Given the description of an element on the screen output the (x, y) to click on. 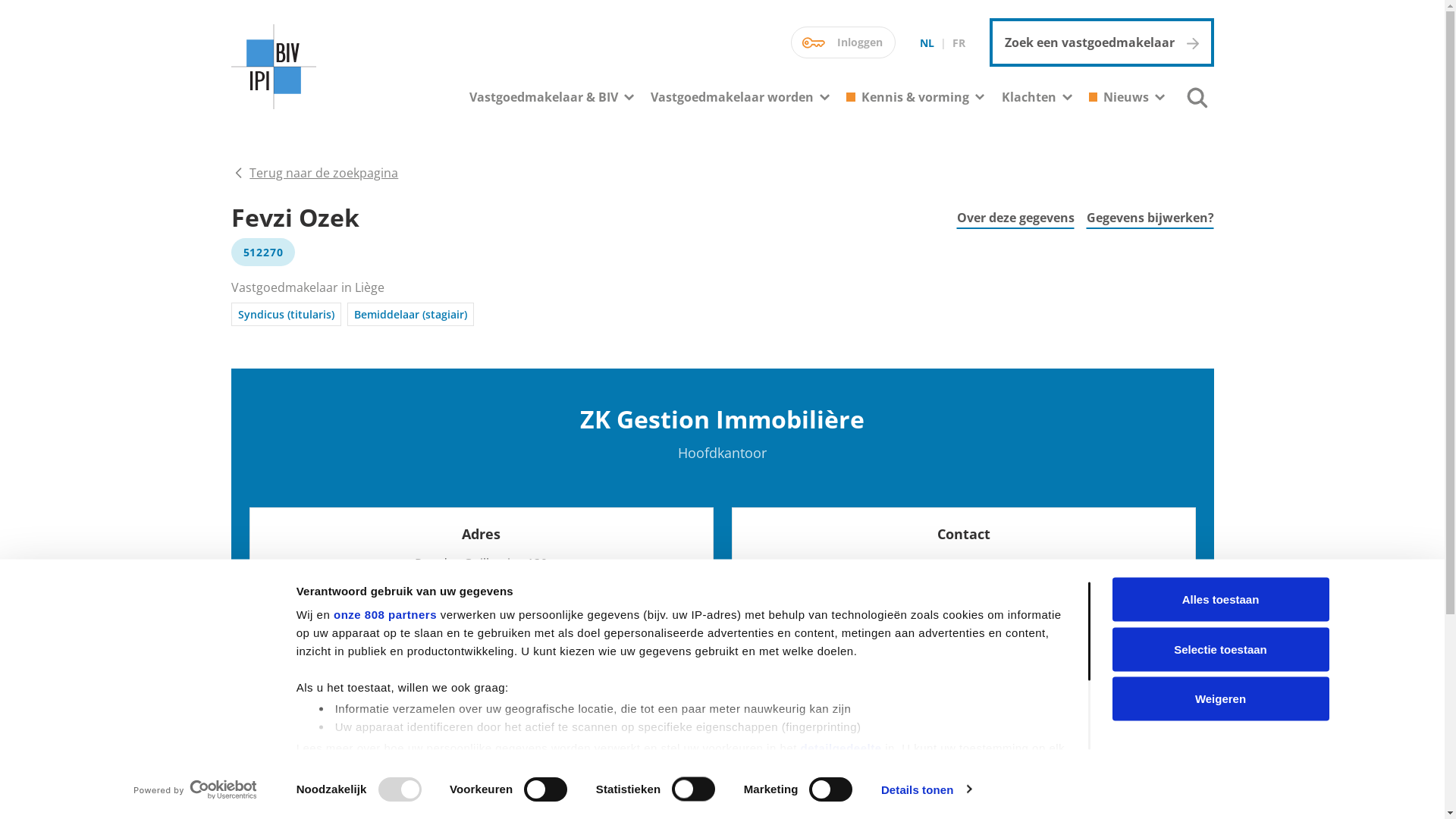
Alles toestaan Element type: text (1219, 599)
Route Element type: text (491, 610)
Klachten Element type: text (1028, 96)
Over deze gegevens Element type: text (1015, 218)
+32 (493) 82.12.04 Element type: text (974, 585)
Inloggen Element type: text (842, 42)
Selectie toestaan Element type: text (1219, 649)
Weigeren Element type: text (1219, 698)
Gegevens bijwerken? Element type: text (1149, 218)
NL Element type: text (926, 42)
Details tonen Element type: text (926, 789)
Vastgoedmakelaar worden Element type: text (731, 96)
Vastgoedmakelaar & BIV Element type: text (543, 96)
Zoek een vastgoedmakelaar Element type: text (1100, 42)
onze 808 partners Element type: text (384, 614)
detailgedeelte Element type: text (840, 747)
Terug naar de zoekpagina Element type: text (314, 172)
fevzi.ozek@zkgestion.com Element type: text (973, 563)
FR Element type: text (958, 42)
Nieuws Element type: text (1125, 96)
Kennis & vorming Element type: text (915, 96)
